Given the description of an element on the screen output the (x, y) to click on. 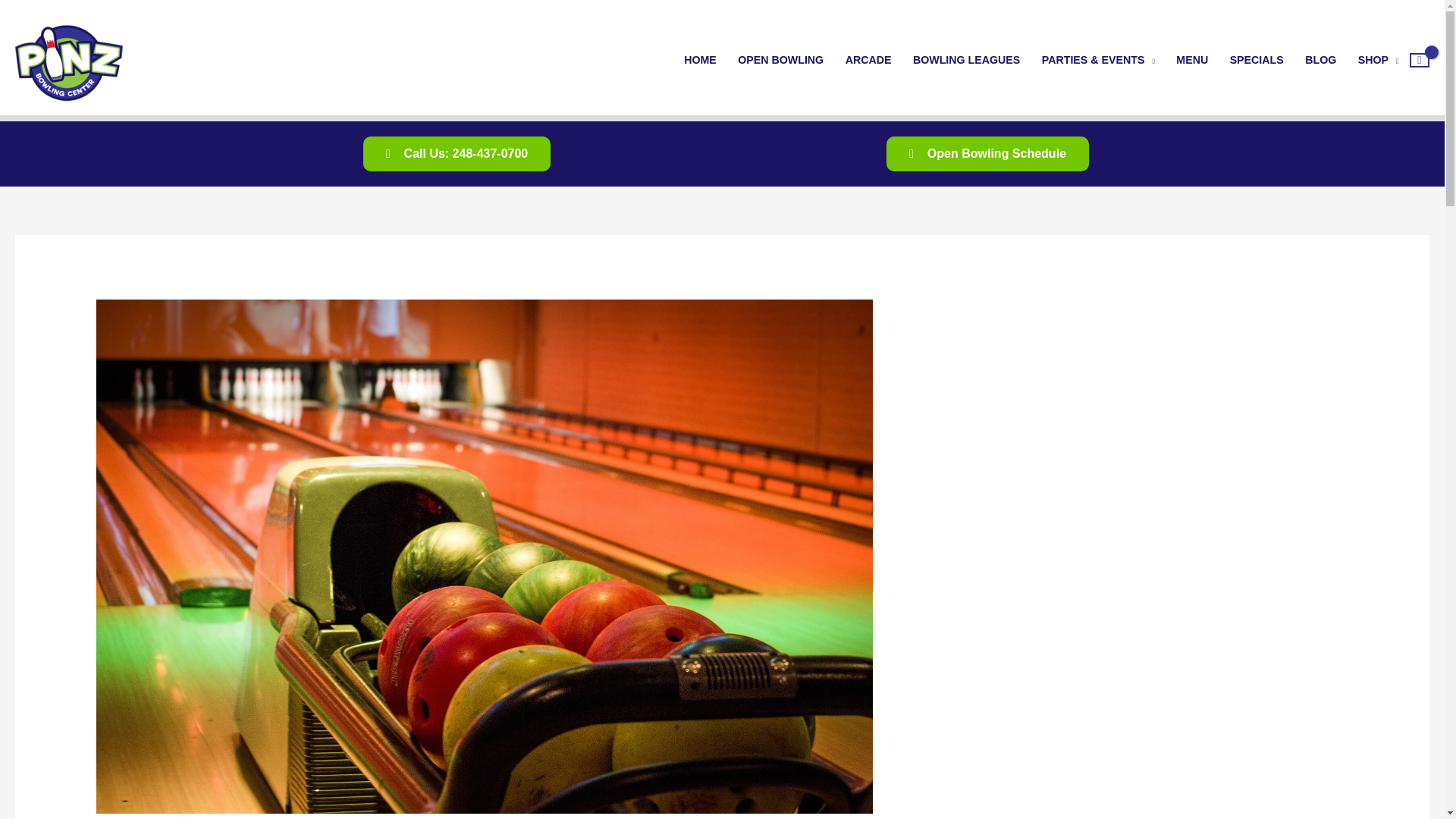
ARCADE (867, 59)
OPEN BOWLING (780, 59)
Call Us: 248-437-0700 (456, 153)
SPECIALS (1256, 59)
BOWLING LEAGUES (966, 59)
MENU (1192, 59)
Open Bowling Schedule (987, 153)
HOME (699, 59)
SHOP (1377, 59)
BLOG (1321, 59)
